Given the description of an element on the screen output the (x, y) to click on. 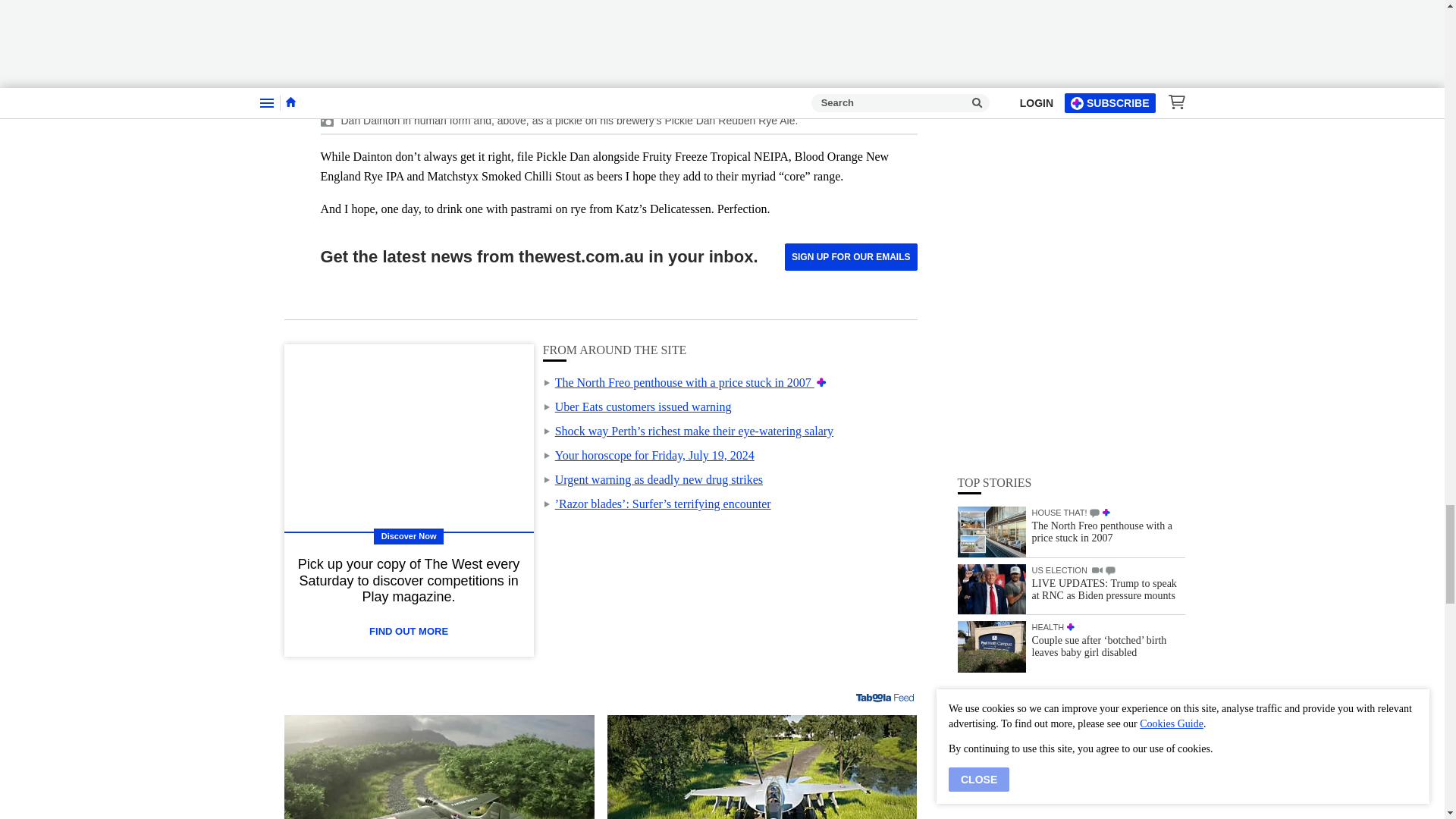
Premium (821, 382)
If you own a mouse, you have to play this game. (762, 766)
